Given the description of an element on the screen output the (x, y) to click on. 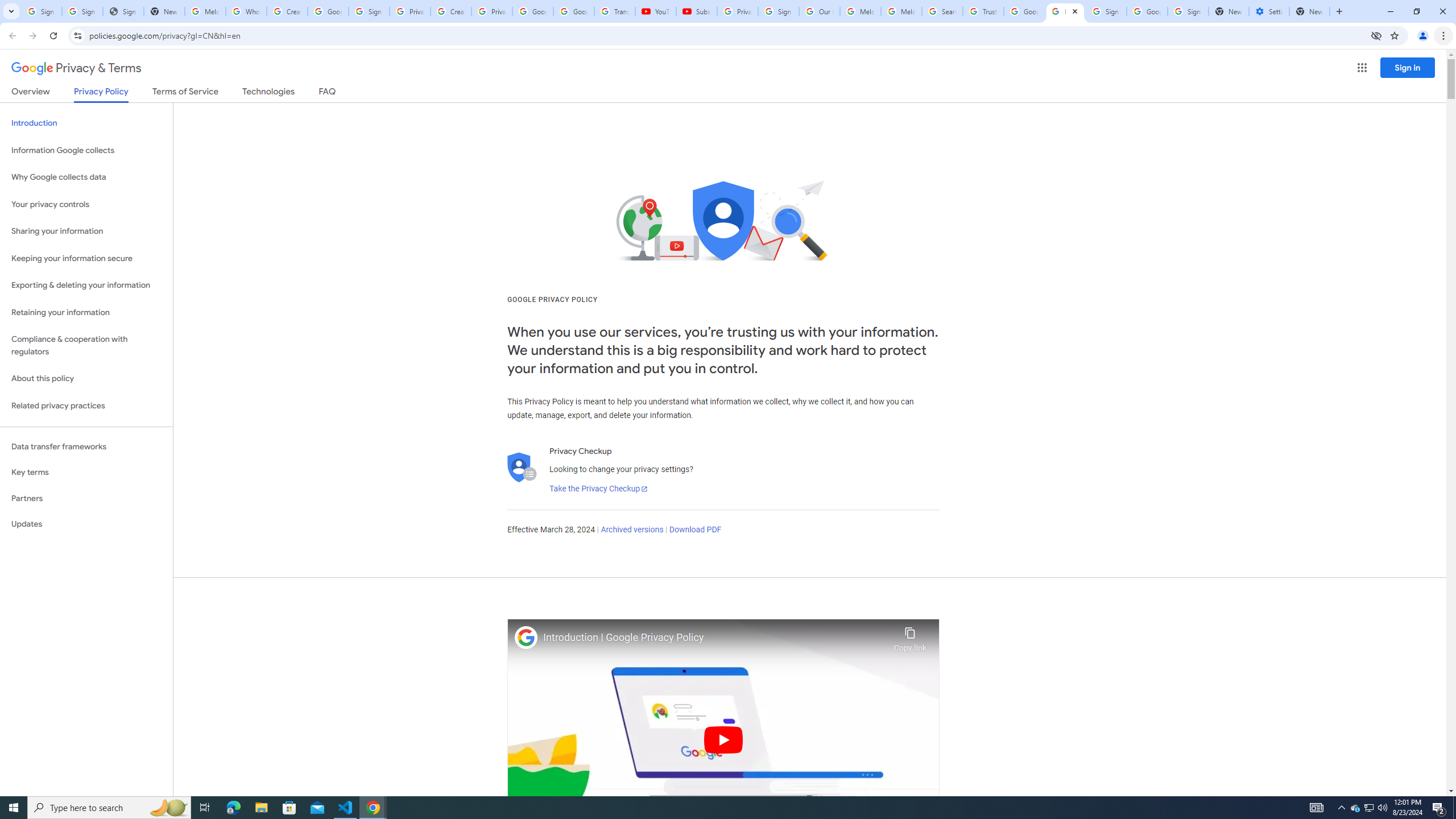
Sign in - Google Accounts (81, 11)
Archived versions (631, 529)
Google Ads - Sign in (1023, 11)
Who is my administrator? - Google Account Help (246, 11)
Search our Doodle Library Collection - Google Doodles (942, 11)
